Given the description of an element on the screen output the (x, y) to click on. 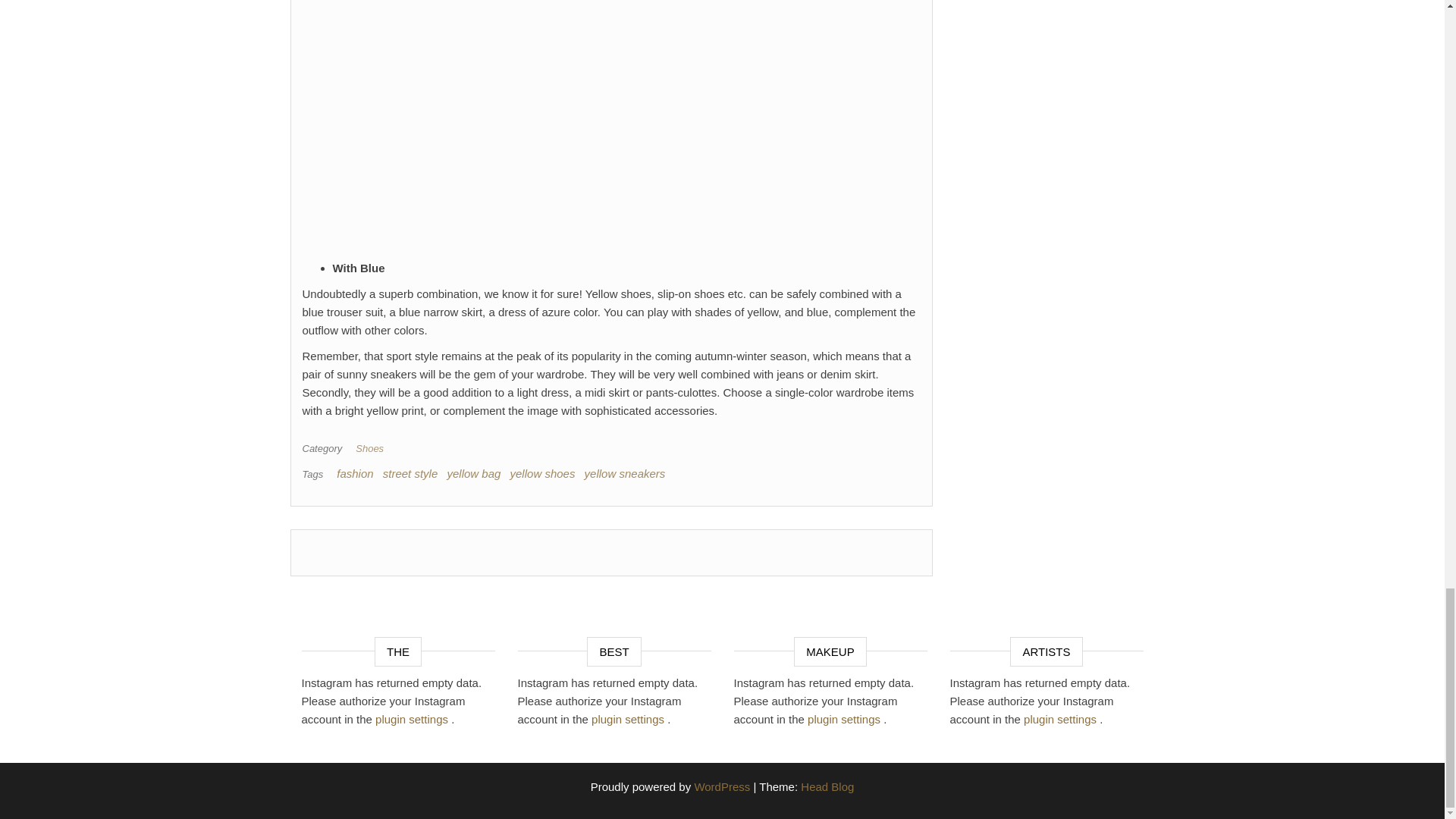
street style (410, 472)
yellow sneakers (625, 472)
yellow shoes (543, 472)
plugin settings (845, 718)
plugin settings (628, 718)
WordPress (721, 786)
yellow bag (473, 472)
Head Blog (826, 786)
Shoes (372, 448)
fashion (354, 472)
